Given the description of an element on the screen output the (x, y) to click on. 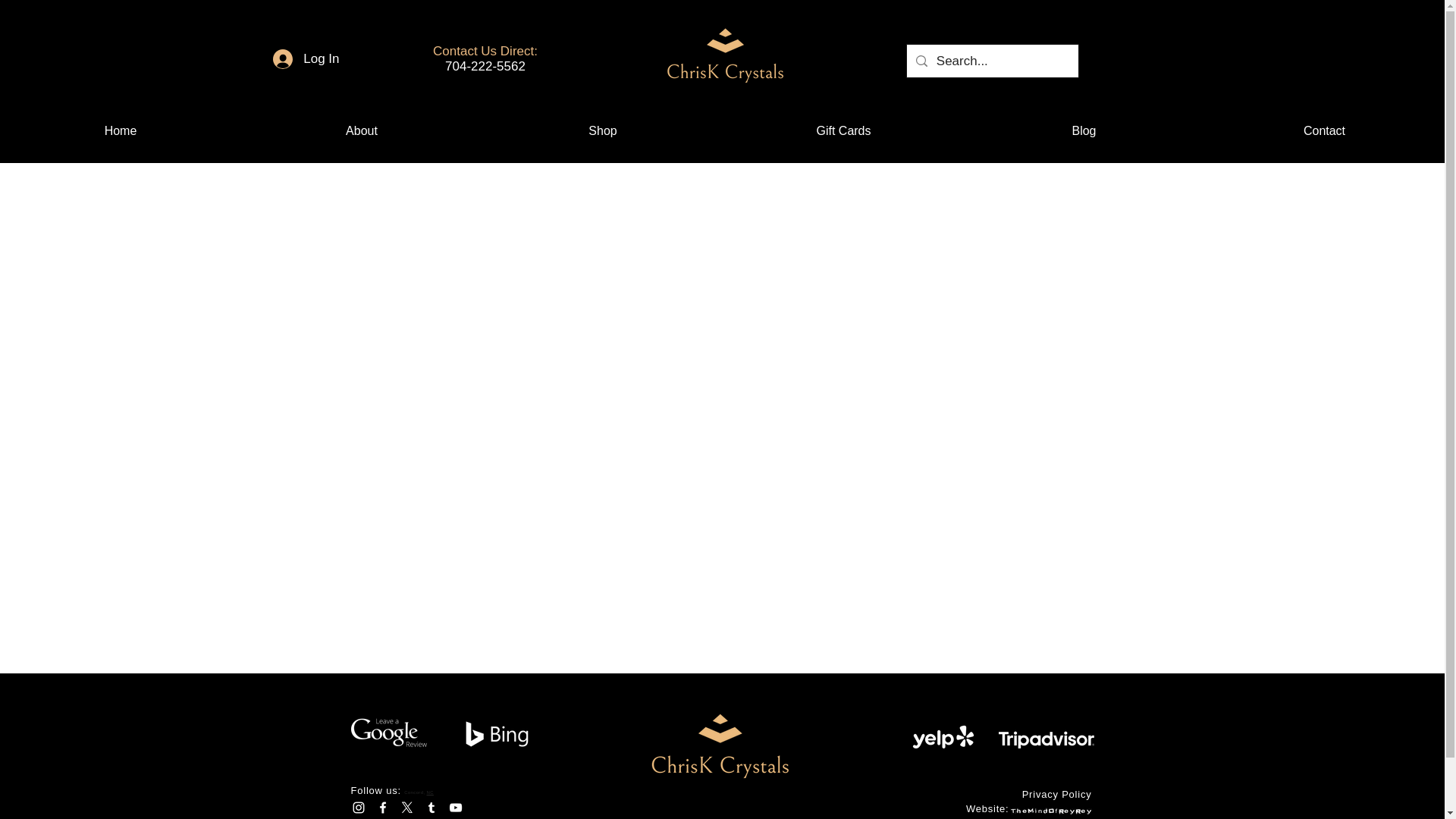
Log In (305, 59)
Privacy Policy (1057, 794)
Home (120, 130)
Blog (1083, 130)
704-222-5562 (485, 65)
Website: (987, 808)
About (361, 130)
Gift Cards (843, 130)
